Given the description of an element on the screen output the (x, y) to click on. 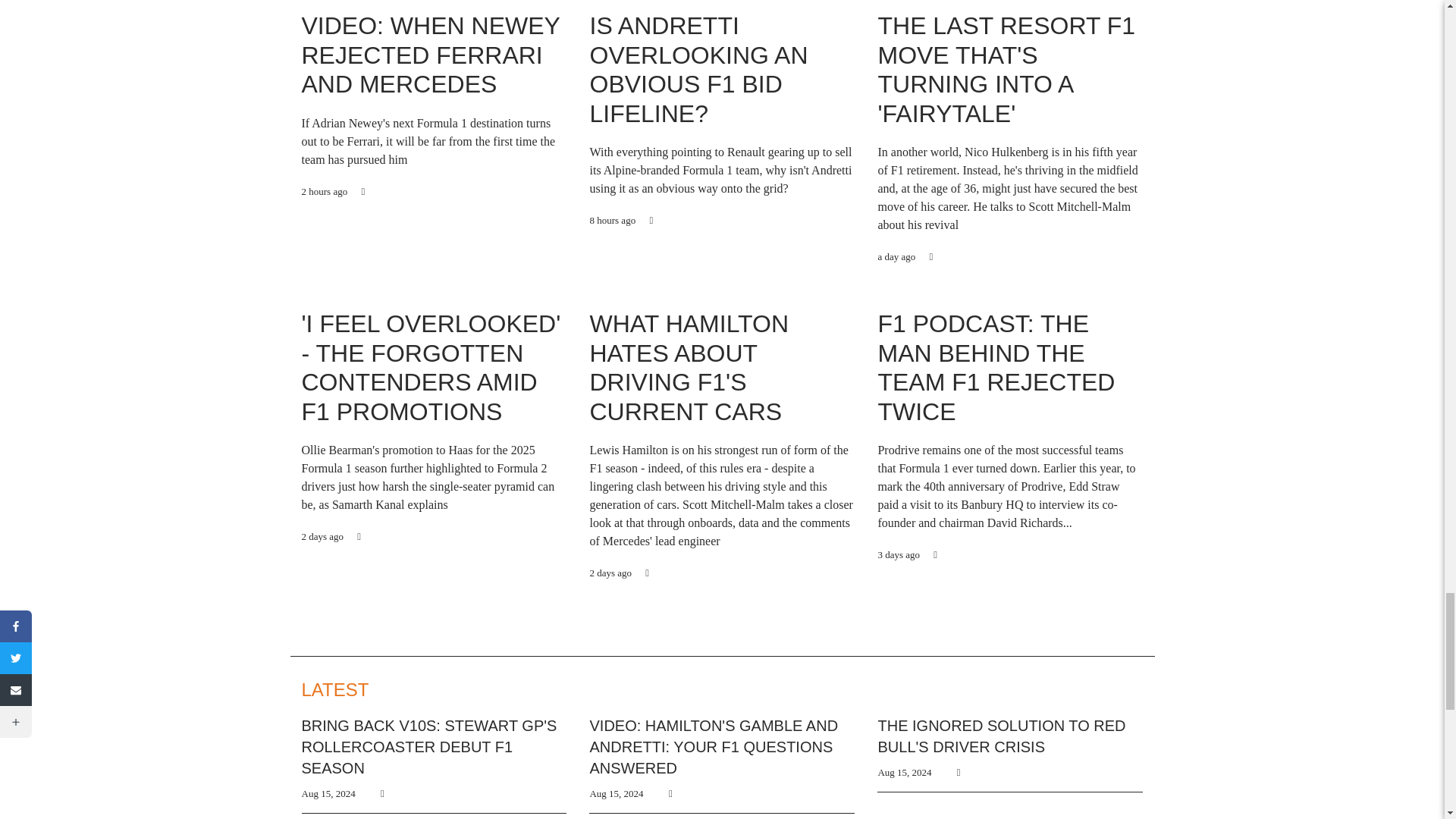
THE LAST RESORT F1 MOVE THAT'S TURNING INTO A 'FAIRYTALE' (1006, 69)
VIDEO: WHEN NEWEY REJECTED FERRARI AND MERCEDES (430, 54)
IS ANDRETTI OVERLOOKING AN OBVIOUS F1 BID LIFELINE? (698, 69)
